Given the description of an element on the screen output the (x, y) to click on. 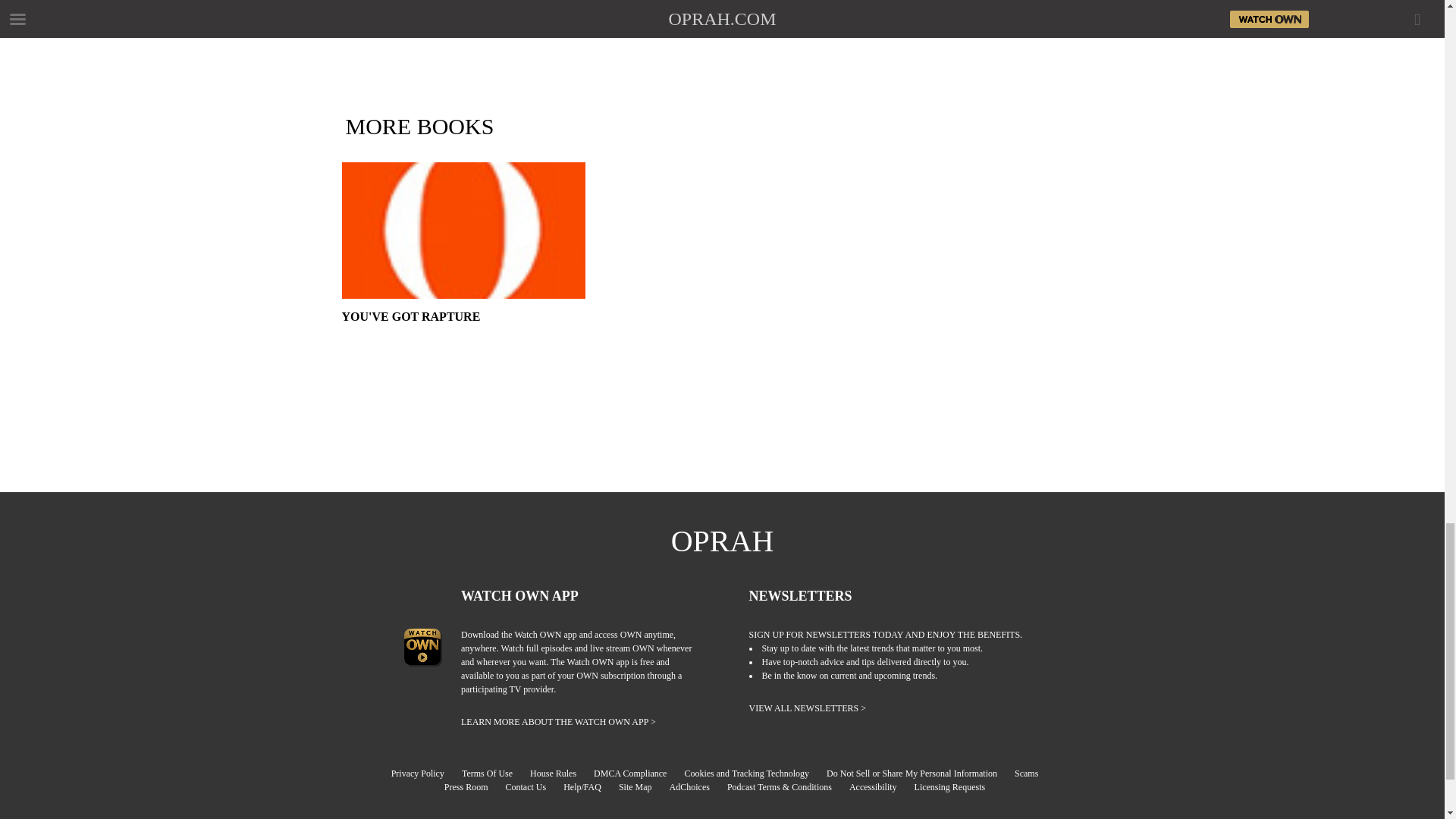
Licensing Requests (957, 786)
Do Not Sell or Share My Personal Information (919, 773)
Press Room (473, 786)
YOU'VE GOT RAPTURE (462, 336)
Terms Of Use (494, 773)
DMCA Compliance (637, 773)
House Rules (560, 773)
OPRAH (722, 541)
Accessibility (880, 786)
Scams (1033, 773)
Contact Us (532, 786)
Site Map (642, 786)
Privacy Policy (425, 773)
Cookies and Tracking Technology (754, 773)
AdChoices (697, 786)
